Given the description of an element on the screen output the (x, y) to click on. 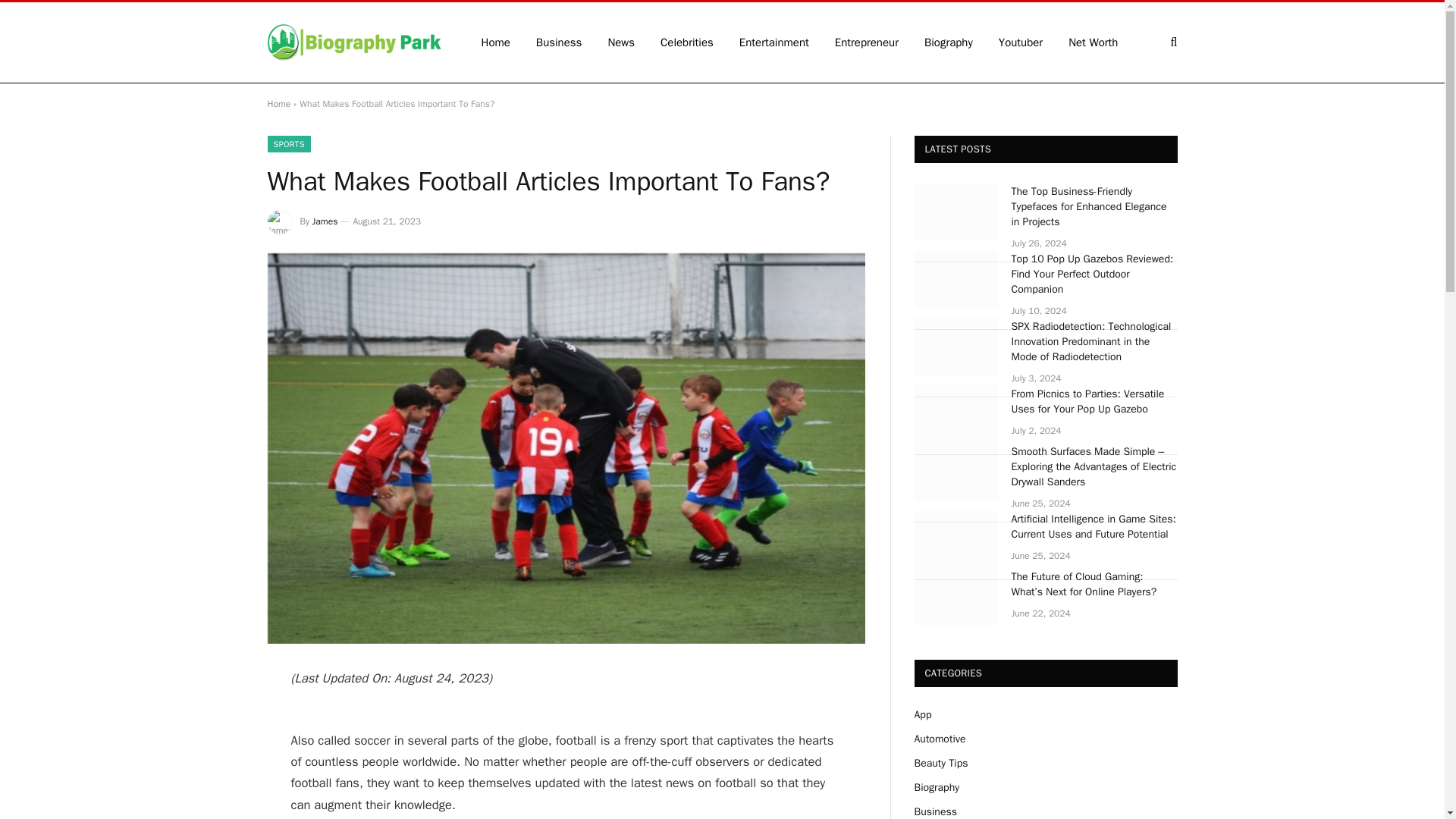
Net Worth (1093, 42)
Home (277, 103)
Posts by James (325, 221)
Entrepreneur (866, 42)
James (325, 221)
Biography Park (353, 42)
Biography (948, 42)
Business (558, 42)
